Given the description of an element on the screen output the (x, y) to click on. 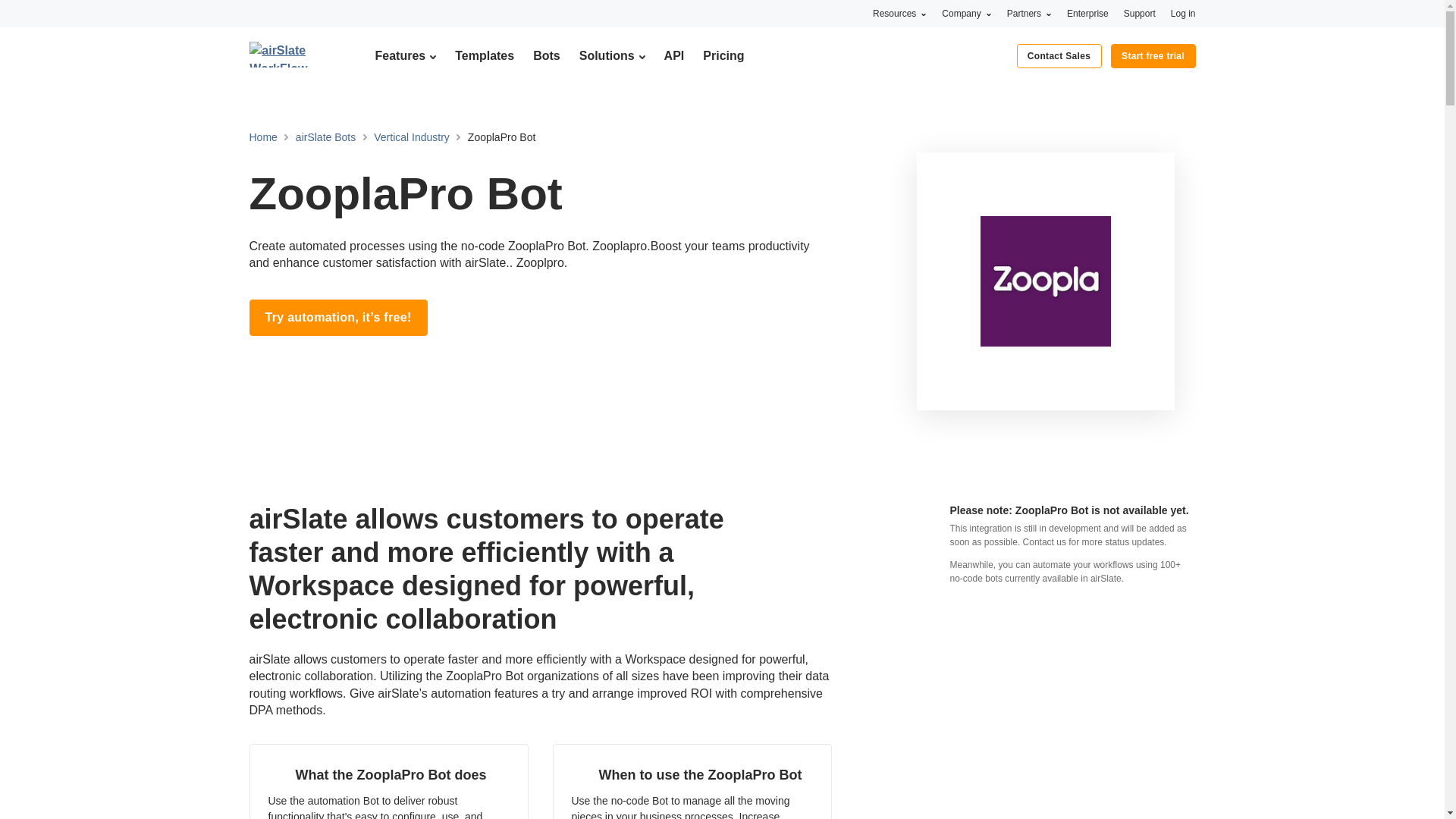
Partners (1029, 13)
Support (1140, 13)
Company (966, 13)
Enterprise (1087, 13)
Templates (483, 55)
Resources (899, 13)
Log in (1182, 13)
